Given the description of an element on the screen output the (x, y) to click on. 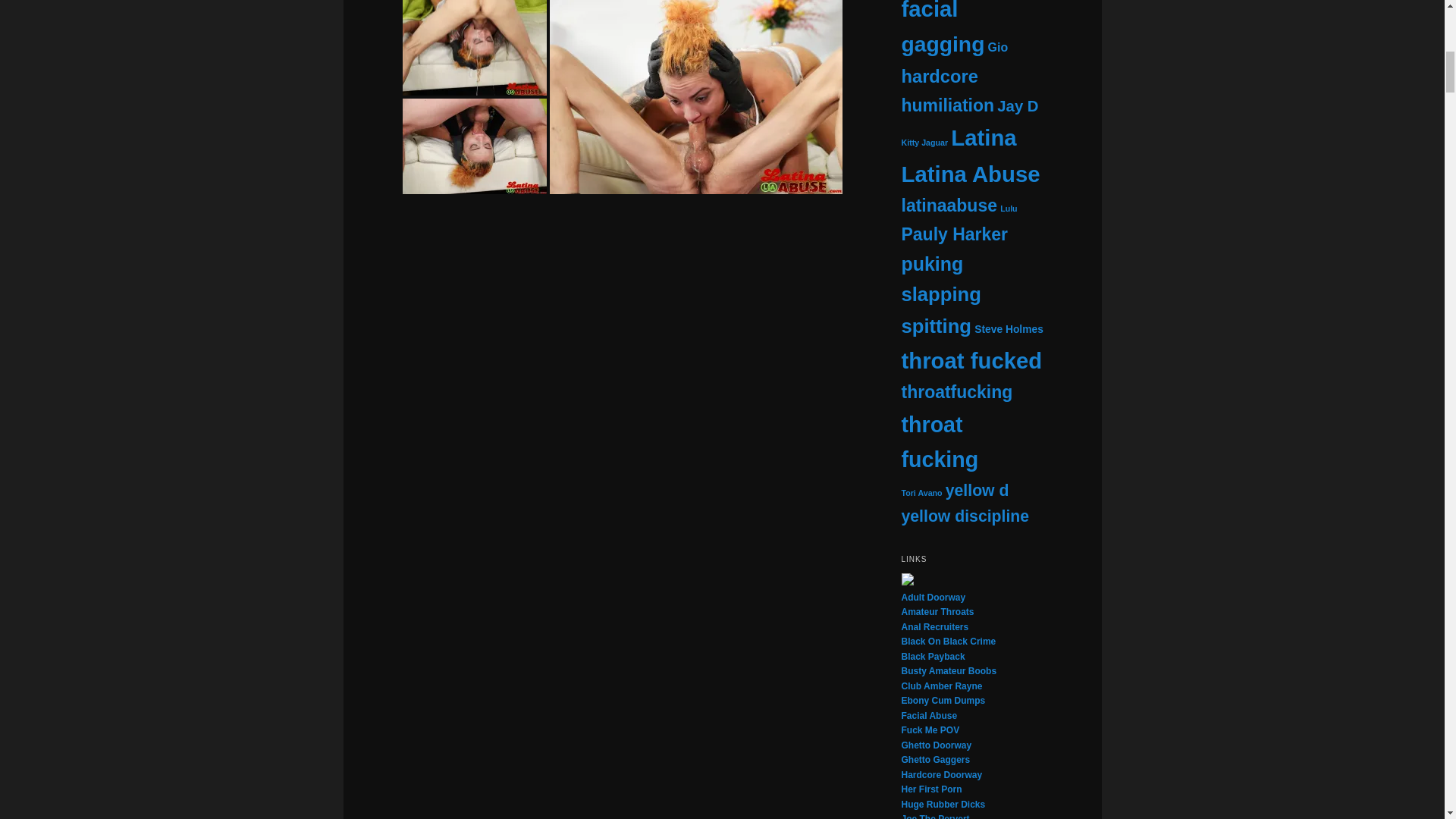
latinaabuse-bred-and-throated-020 (473, 47)
latinaabuse-bred-and-throated-027 (769, 393)
latinaabuse-bred-and-throated-022 (694, 97)
latinaabuse-bred-and-throated-026 (547, 442)
latinaabuse-bred-and-throated-021 (473, 146)
latinaabuse-bred-and-throated-024 (732, 270)
latinaabuse-bred-and-throated-023 (510, 270)
